Given the description of an element on the screen output the (x, y) to click on. 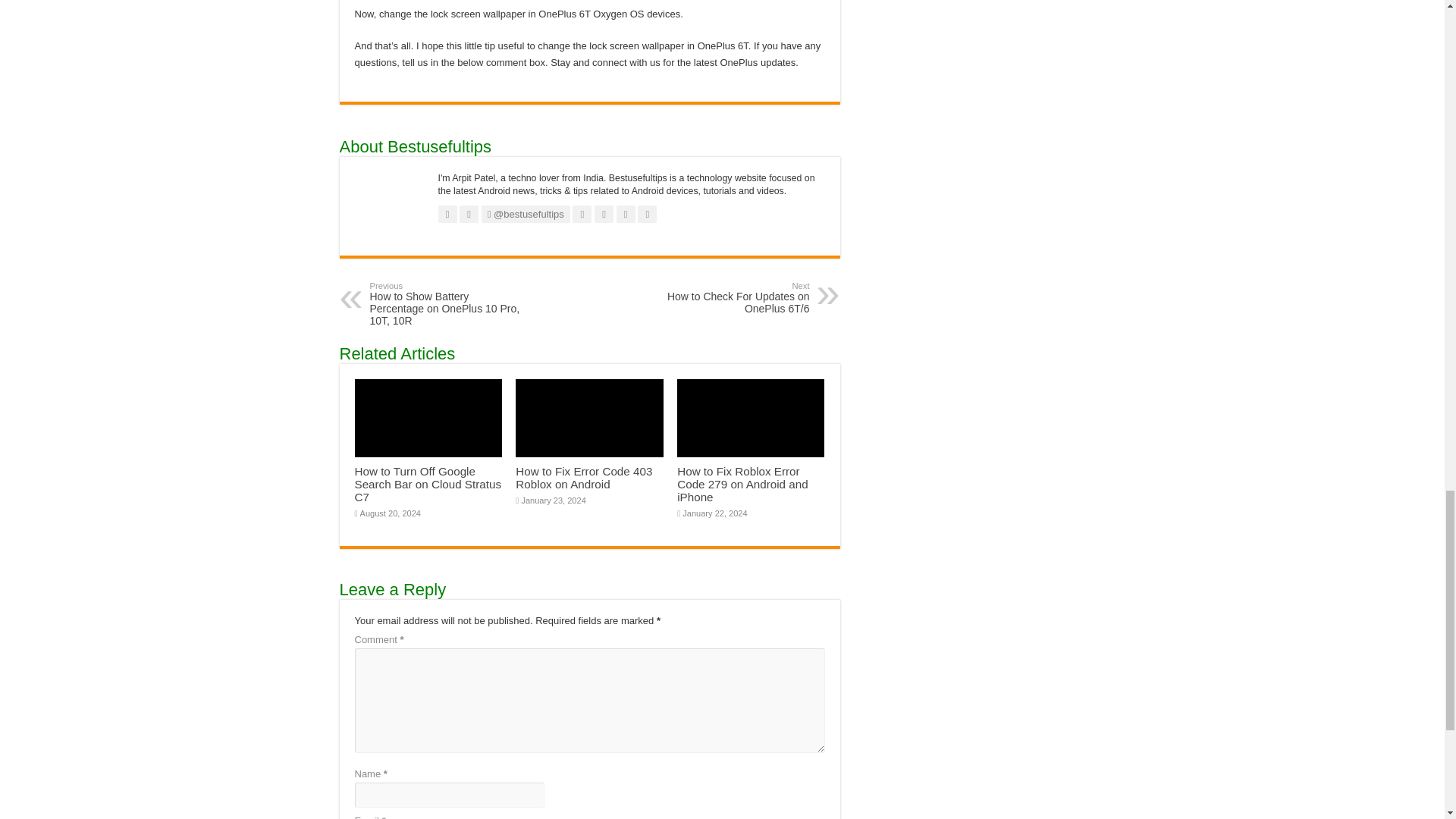
How to Turn Off Google Search Bar on Cloud Stratus C7 (428, 484)
How to Fix Error Code 403 Roblox on Android (583, 477)
How to Fix Roblox Error Code 279 on Android and iPhone (742, 484)
